Given the description of an element on the screen output the (x, y) to click on. 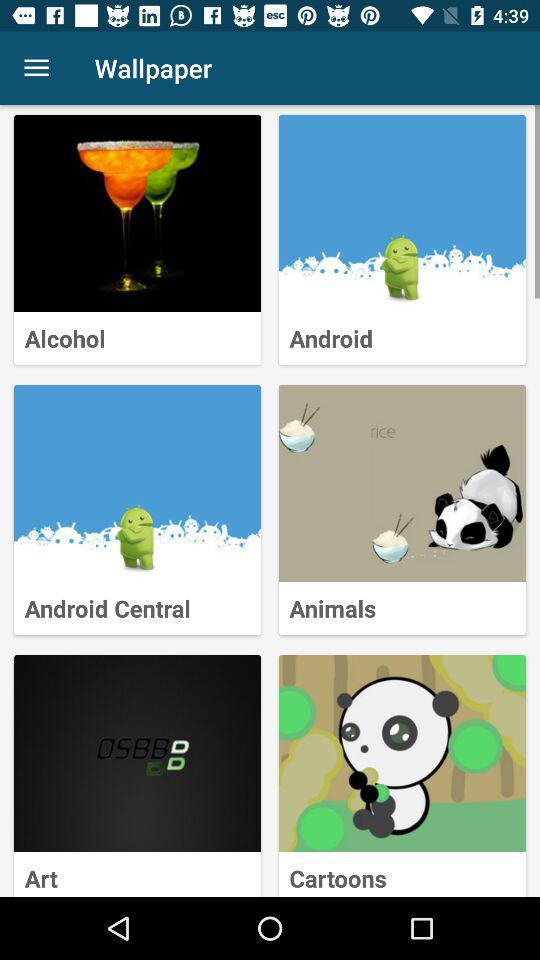
see art wallpapers (137, 753)
